Given the description of an element on the screen output the (x, y) to click on. 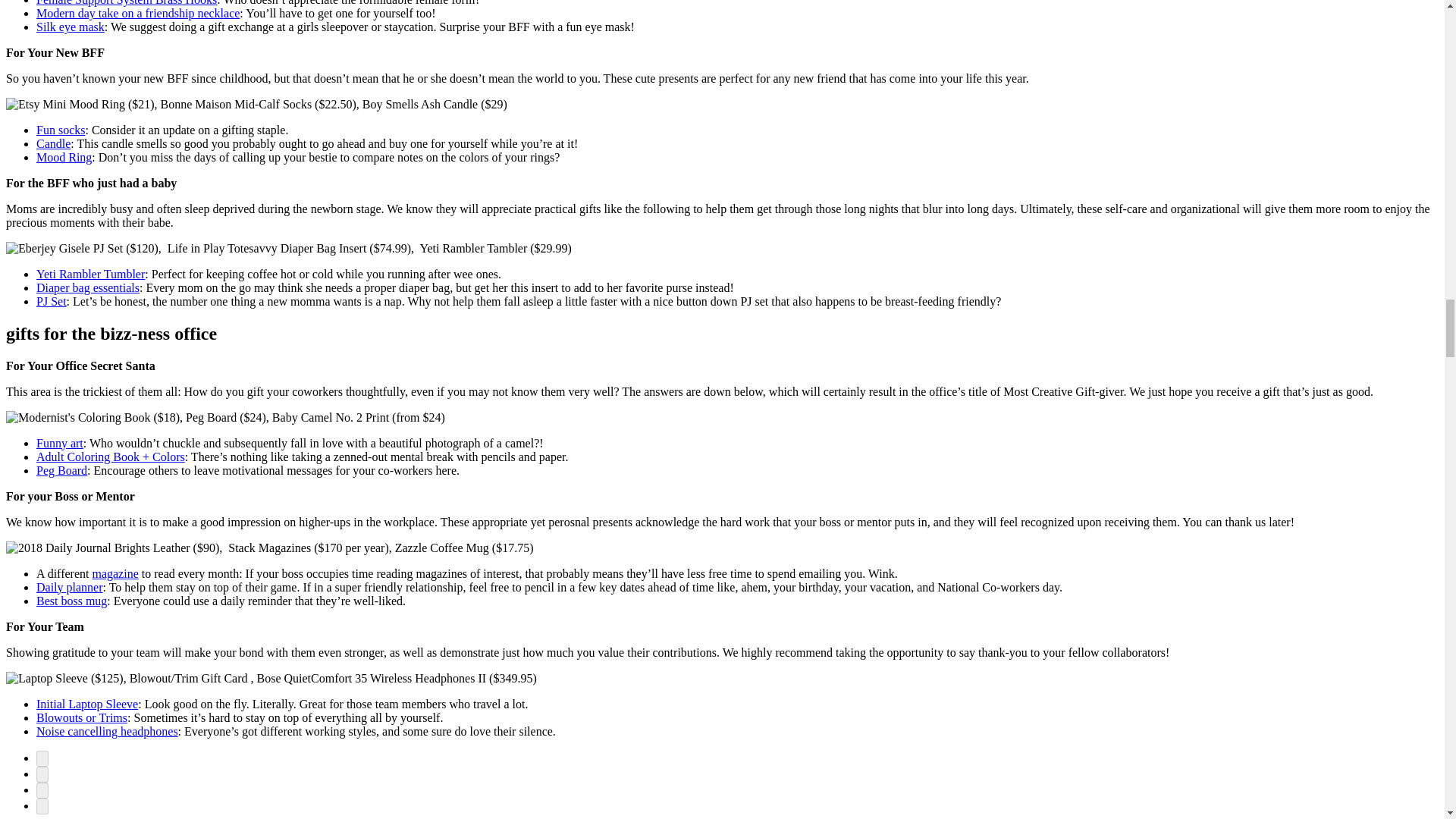
Candle (52, 143)
Mood Ring (63, 156)
Female Support System Brass Hooks (126, 2)
Silk eye mask (70, 26)
Fun socks (60, 129)
Yeti Rambler Tumbler (90, 273)
Diaper bag essentials (87, 287)
odern day take on a friendship necklace (143, 12)
